Given the description of an element on the screen output the (x, y) to click on. 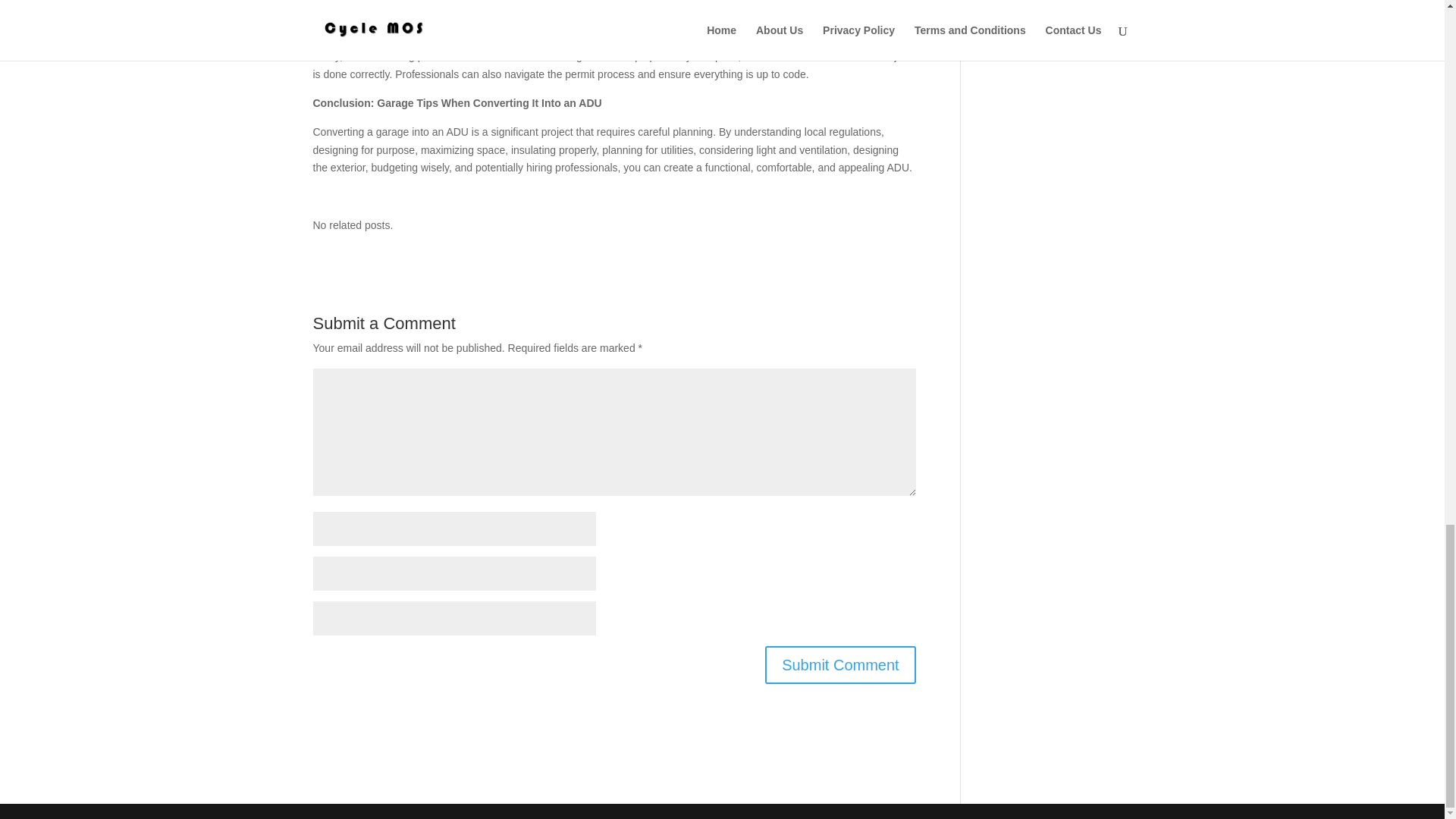
Submit Comment (840, 664)
Submit Comment (840, 664)
